Given the description of an element on the screen output the (x, y) to click on. 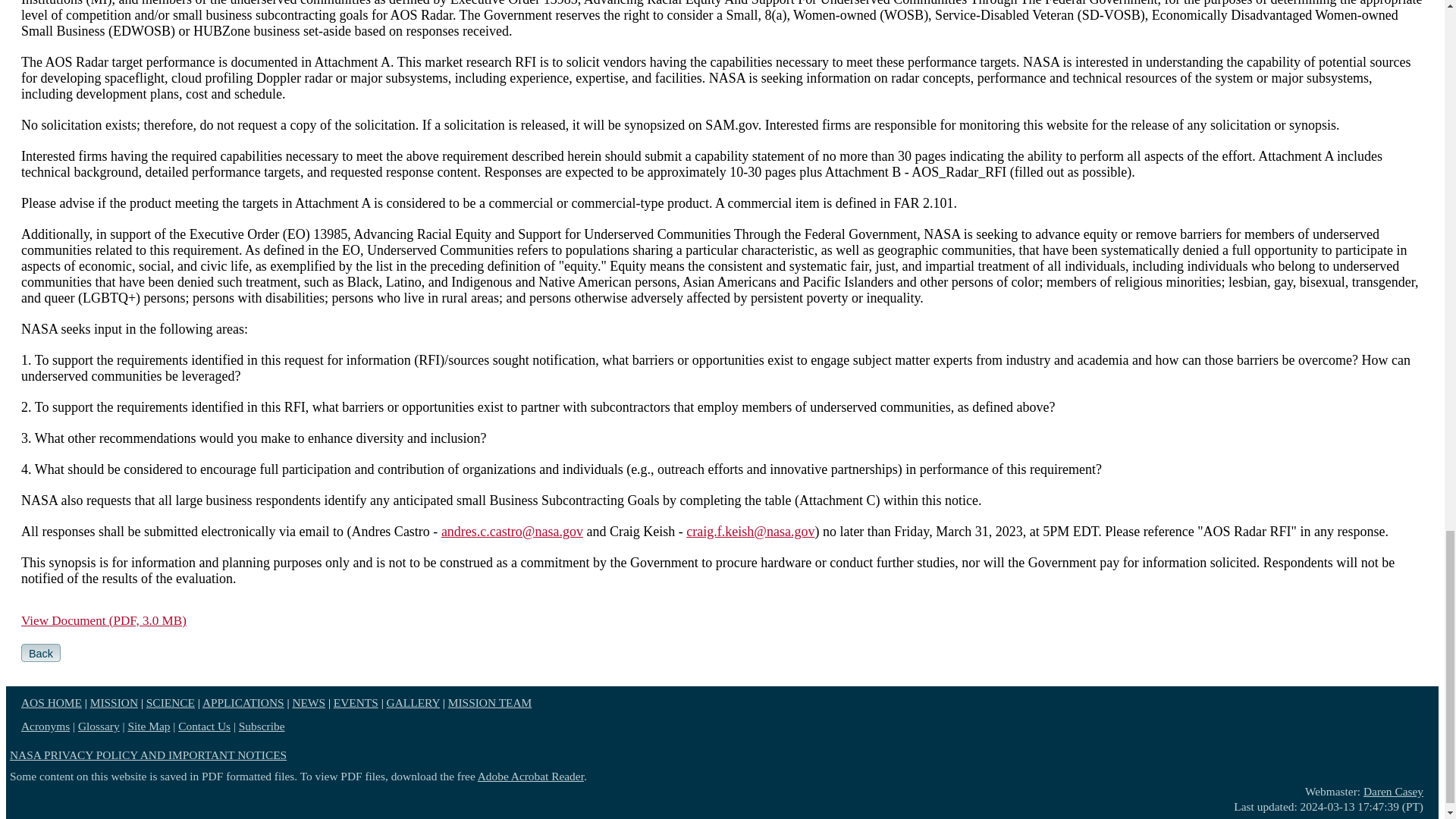
SCIENCE (171, 702)
MISSION (114, 702)
APPLICATIONS (242, 702)
Back (41, 652)
AOS HOME (51, 702)
